Given the description of an element on the screen output the (x, y) to click on. 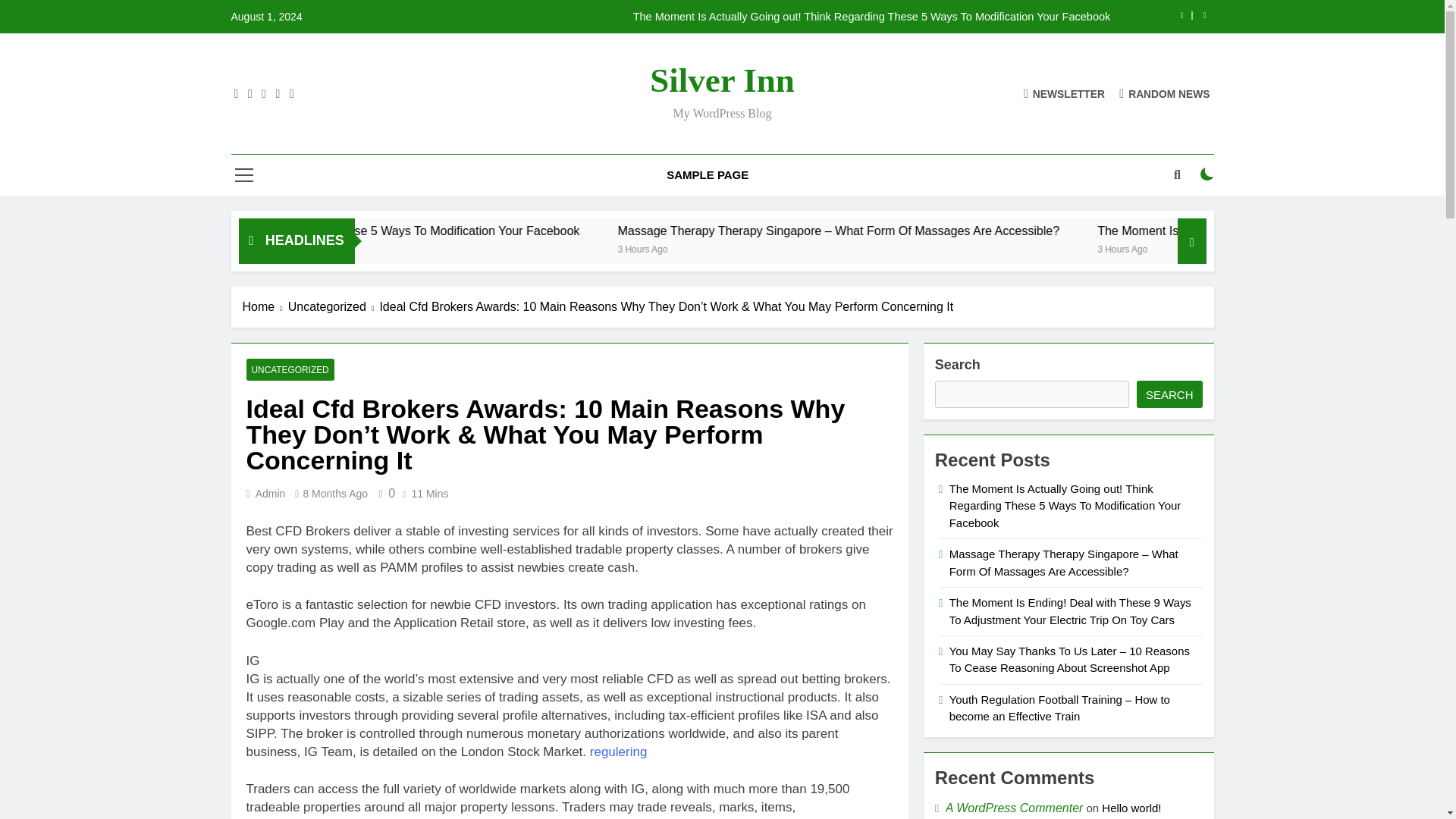
on (1206, 173)
3 Hours Ago (863, 247)
RANDOM NEWS (1164, 92)
Silver Inn (721, 80)
NEWSLETTER (1064, 92)
SAMPLE PAGE (707, 174)
